Given the description of an element on the screen output the (x, y) to click on. 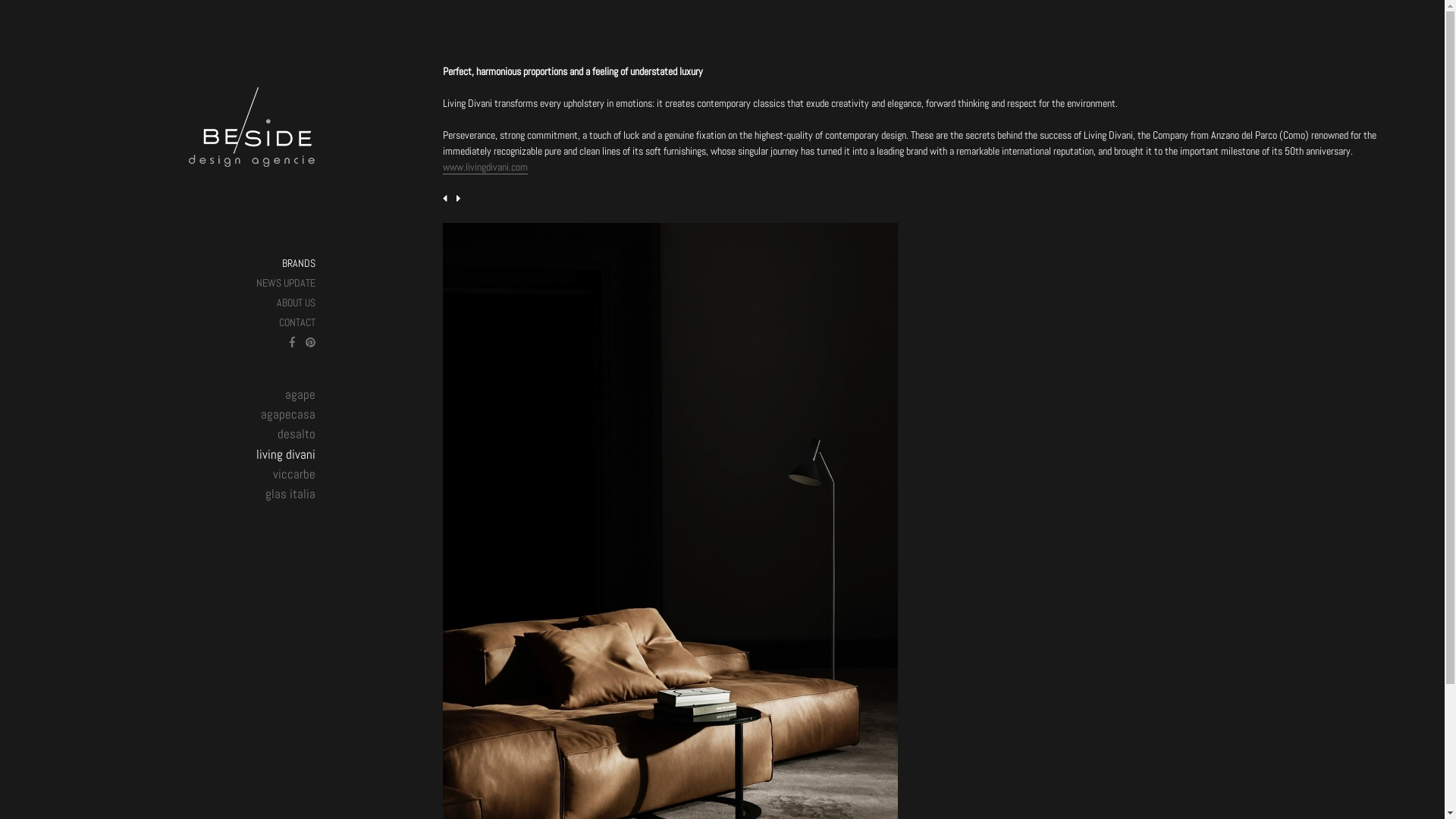
NEWS UPDATE Element type: text (285, 282)
agape Element type: text (300, 393)
www.livingdivani.com Element type: text (484, 167)
CONTACT Element type: text (297, 322)
BRANDS Element type: text (298, 262)
viccarbe Element type: text (294, 473)
desalto Element type: text (296, 433)
agapecasa Element type: text (287, 413)
ABOUT US Element type: text (295, 302)
living divani Element type: text (285, 453)
glas italia Element type: text (290, 493)
